Given the description of an element on the screen output the (x, y) to click on. 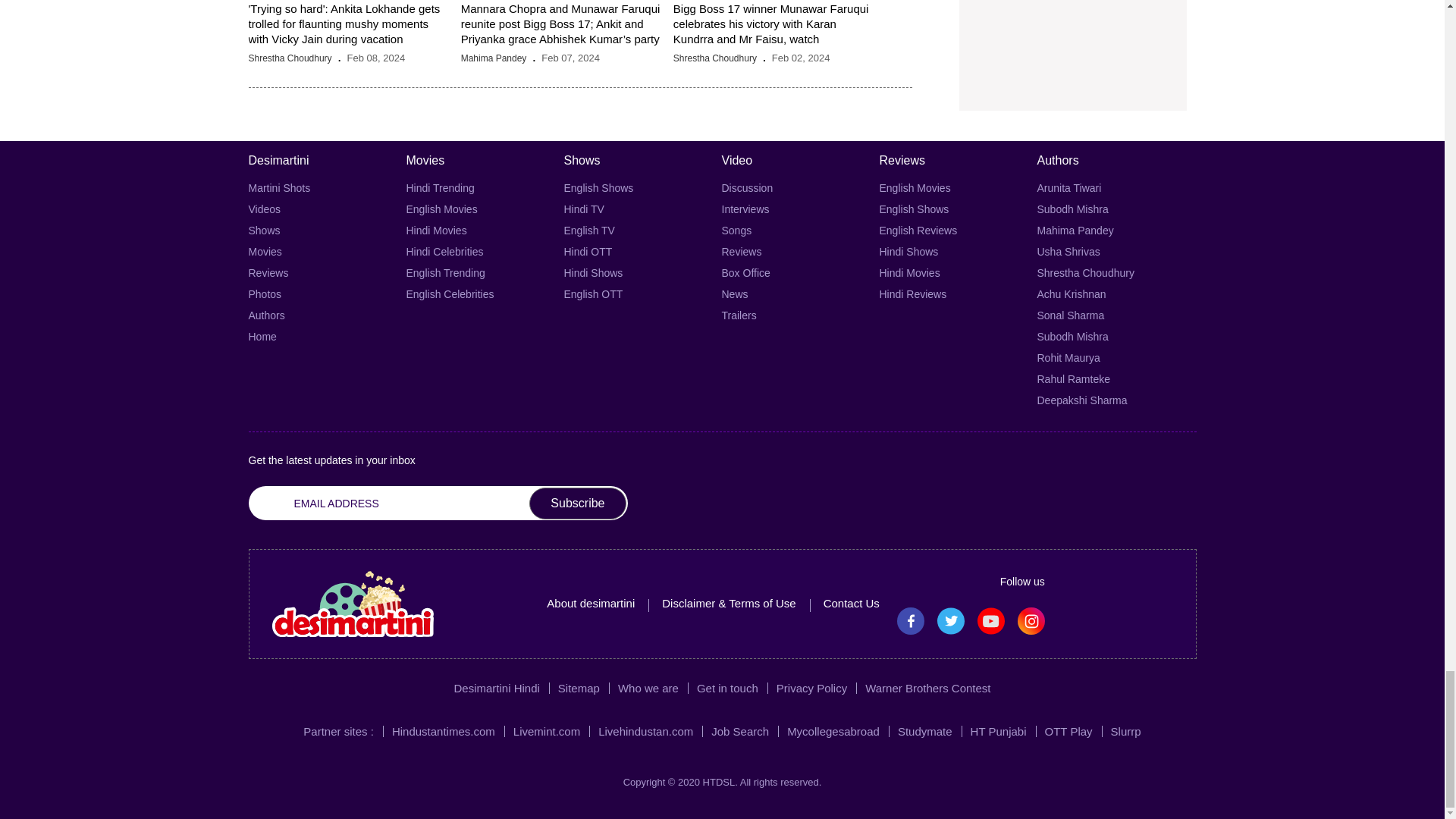
Desi martini (351, 603)
